Given the description of an element on the screen output the (x, y) to click on. 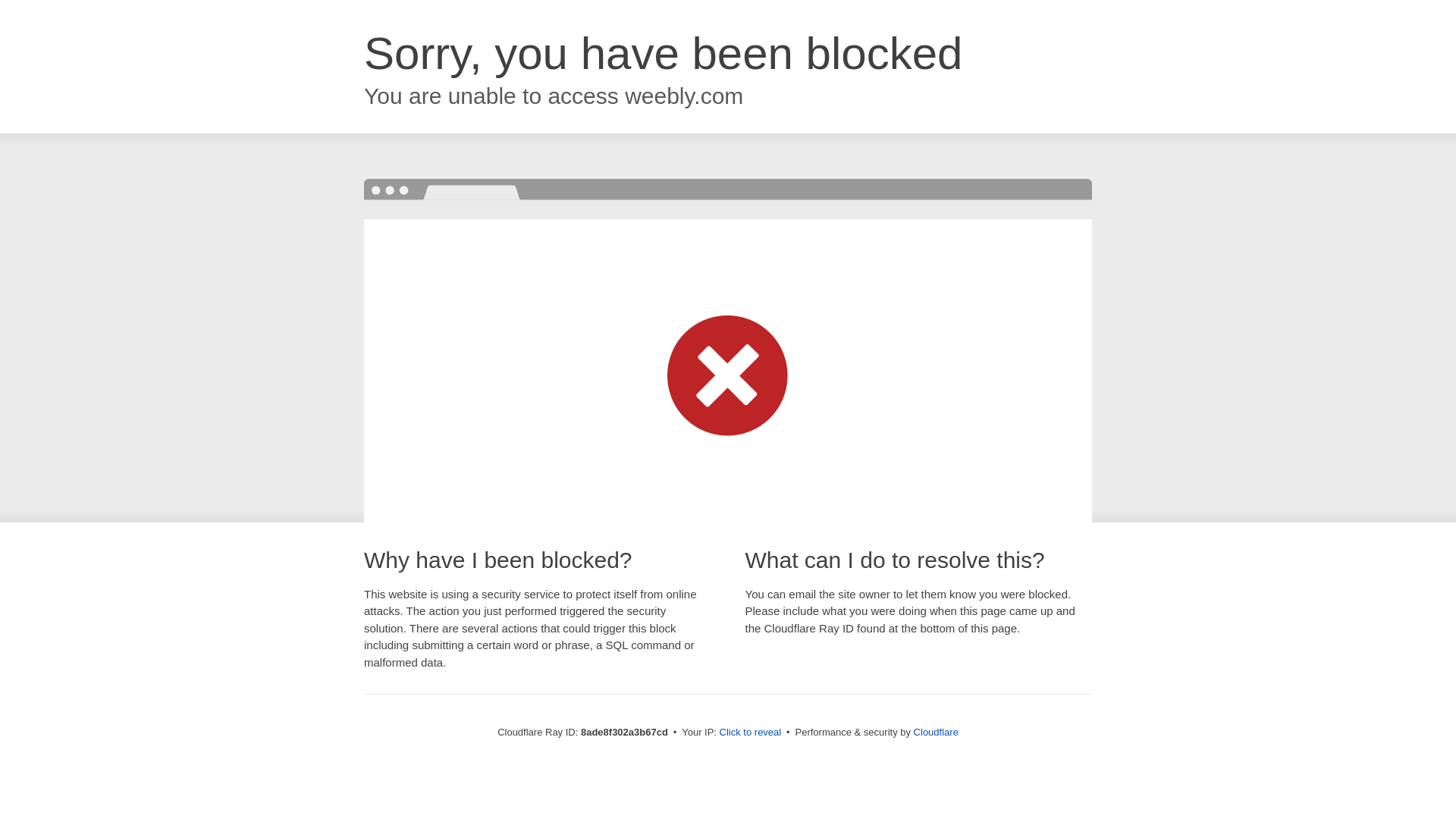
Click to reveal (750, 732)
Cloudflare (936, 731)
